Given the description of an element on the screen output the (x, y) to click on. 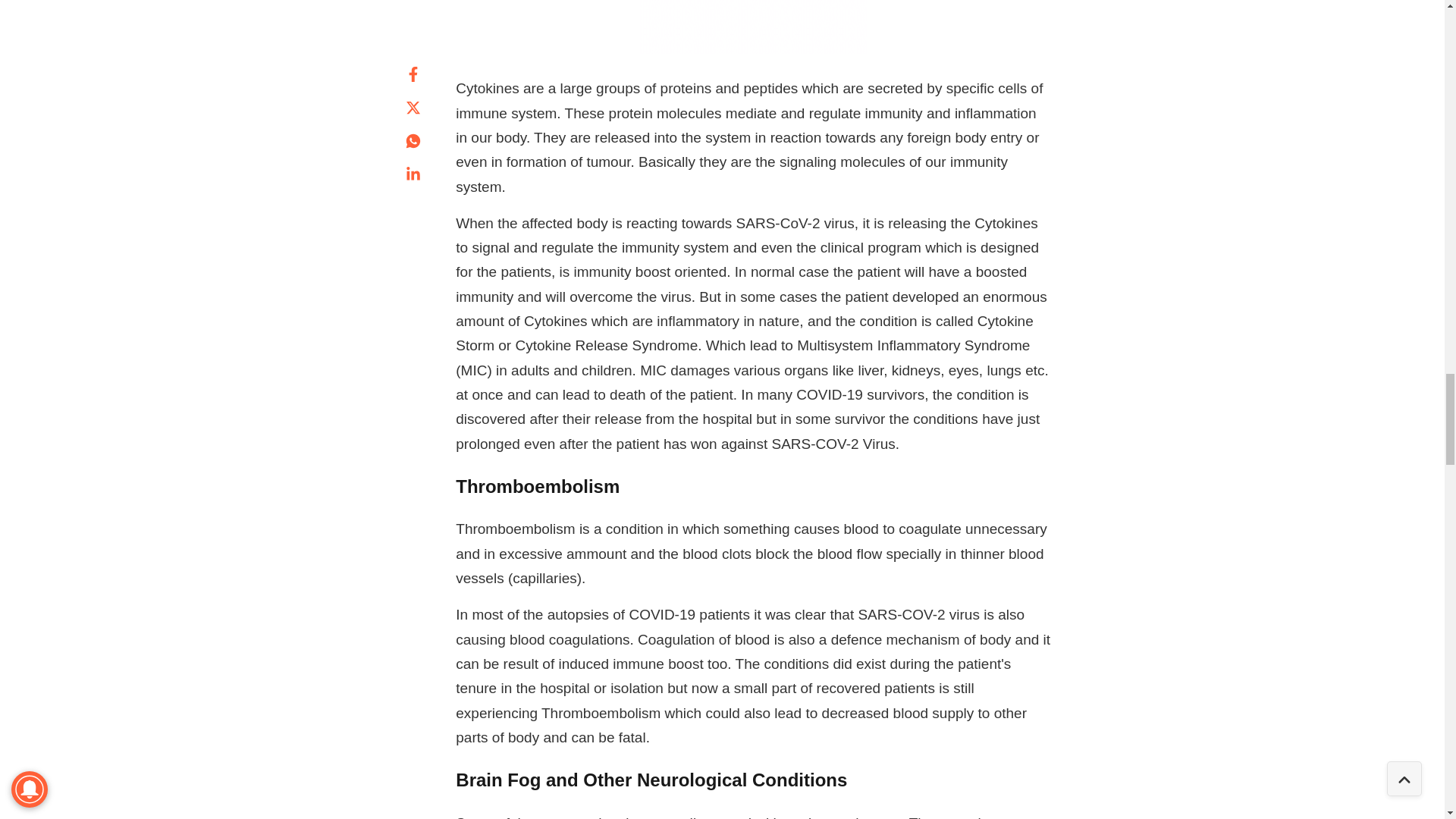
3rd party ad content (752, 27)
